Given the description of an element on the screen output the (x, y) to click on. 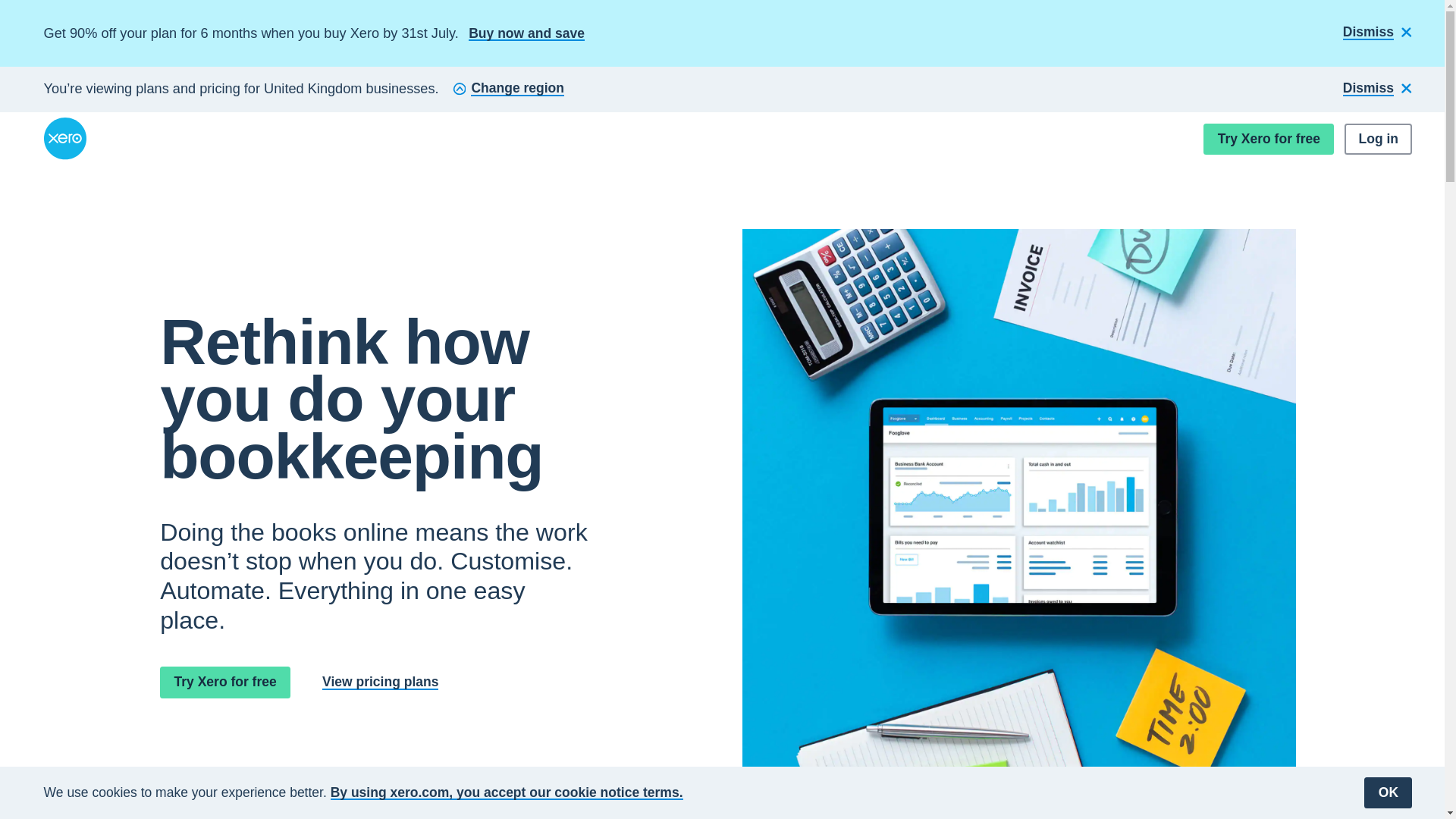
Change region (508, 89)
View pricing plans (379, 682)
Buy now and save (526, 32)
OK (1388, 792)
Log in (1377, 138)
Try Xero for free (224, 681)
Dismiss (1377, 33)
By using xero.com, you accept our cookie notice terms. (506, 792)
Dismiss (1377, 89)
Try Xero for free (1268, 138)
